Given the description of an element on the screen output the (x, y) to click on. 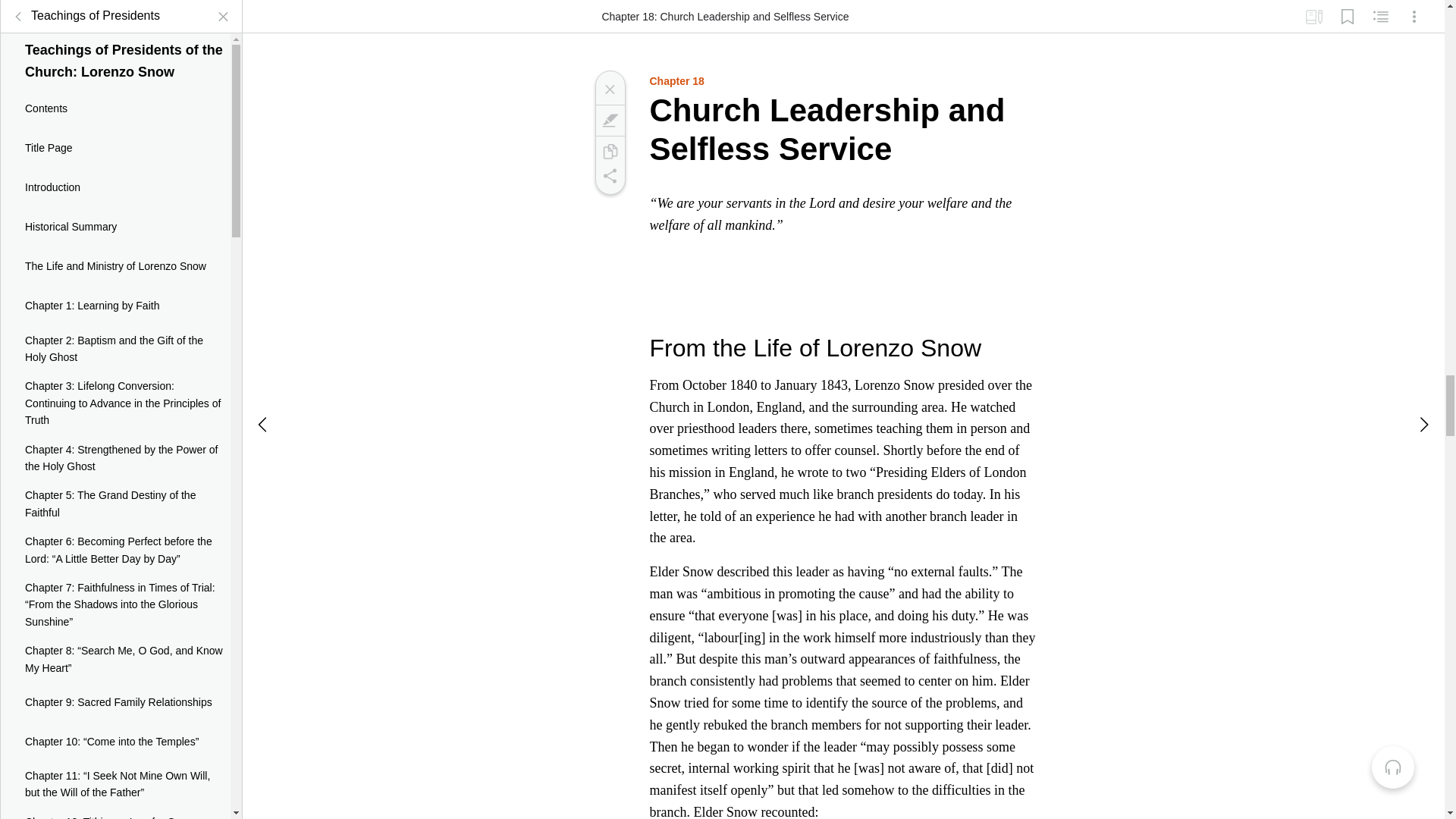
Close (608, 88)
Copy (608, 151)
The Life and Ministry of Lorenzo Snow (115, 255)
Introduction (115, 176)
Chapter 5: The Grand Destiny of the Faithful (115, 492)
Bookmarks (1347, 11)
Title Page (115, 137)
Teachings of Presidents (83, 8)
Chapter 9: Sacred Family Relationships (115, 690)
Study Sets (1313, 11)
Chapter 2: Baptism and the Gift of the Holy Ghost (115, 337)
Mark (608, 120)
Related Content (1380, 11)
